Given the description of an element on the screen output the (x, y) to click on. 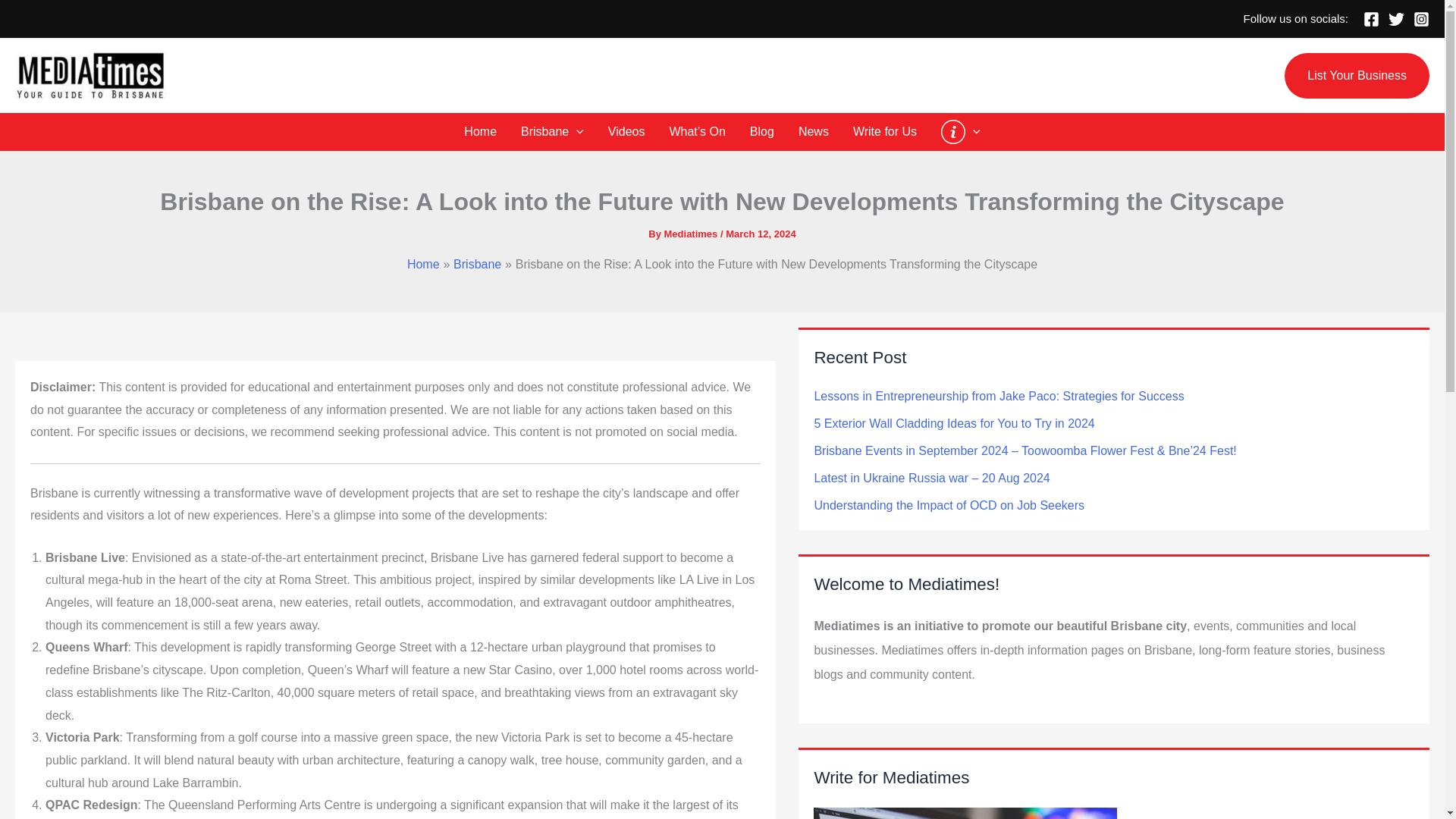
Home (479, 131)
Brisbane (551, 131)
View all posts by  (691, 233)
List Your Business (1356, 75)
Write for Mediatimes (964, 813)
